Given the description of an element on the screen output the (x, y) to click on. 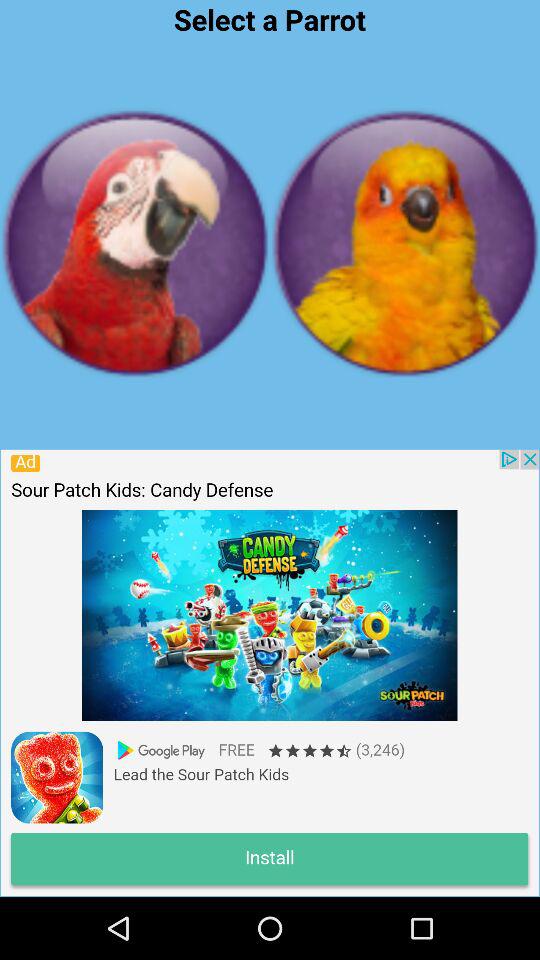
birds page (405, 243)
